Given the description of an element on the screen output the (x, y) to click on. 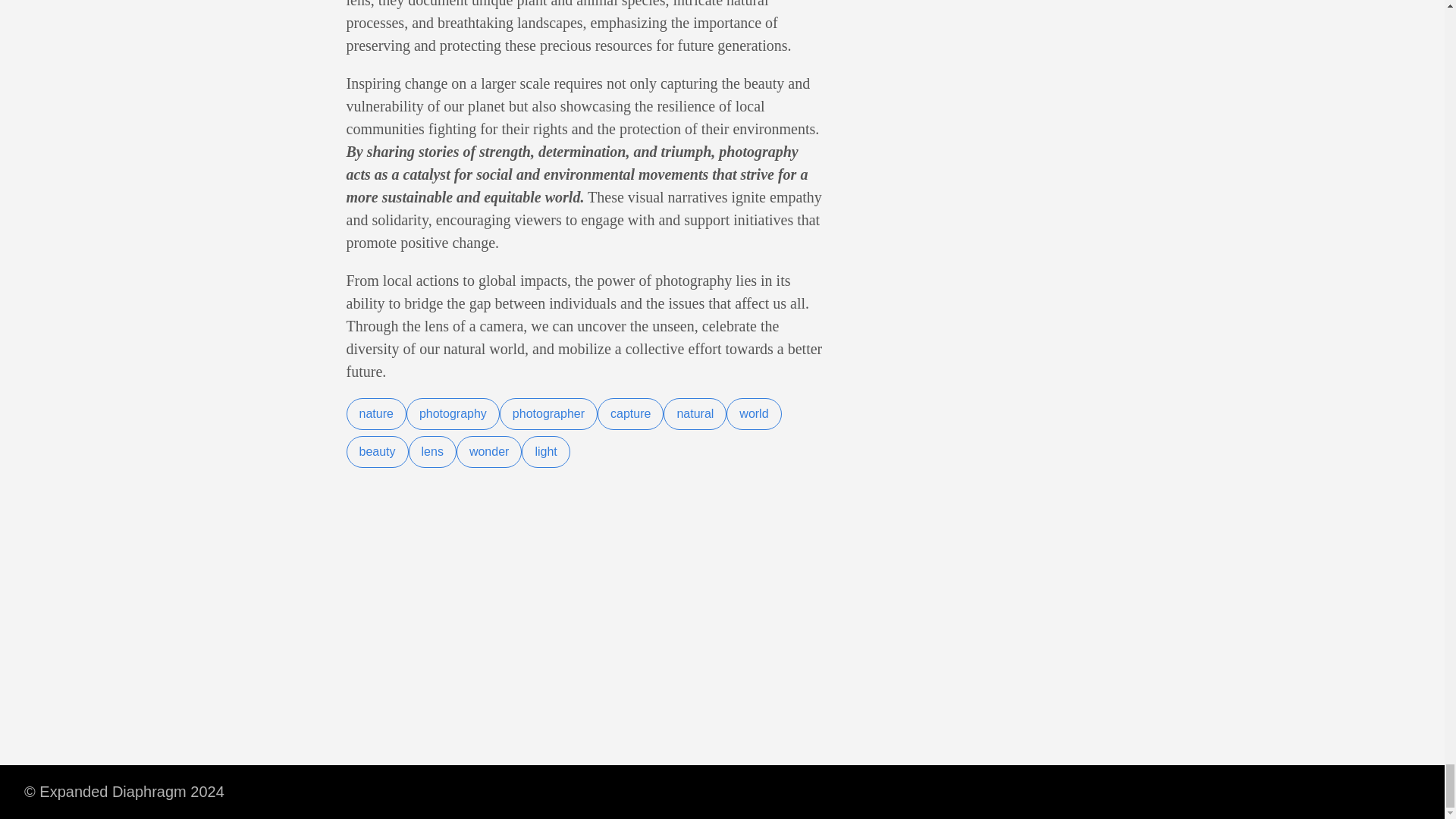
light (545, 451)
lens (433, 451)
capture (629, 413)
natural (694, 413)
wonder (489, 451)
photography (452, 413)
world (753, 413)
nature (376, 413)
beauty (376, 451)
photographer (547, 413)
